Given the description of an element on the screen output the (x, y) to click on. 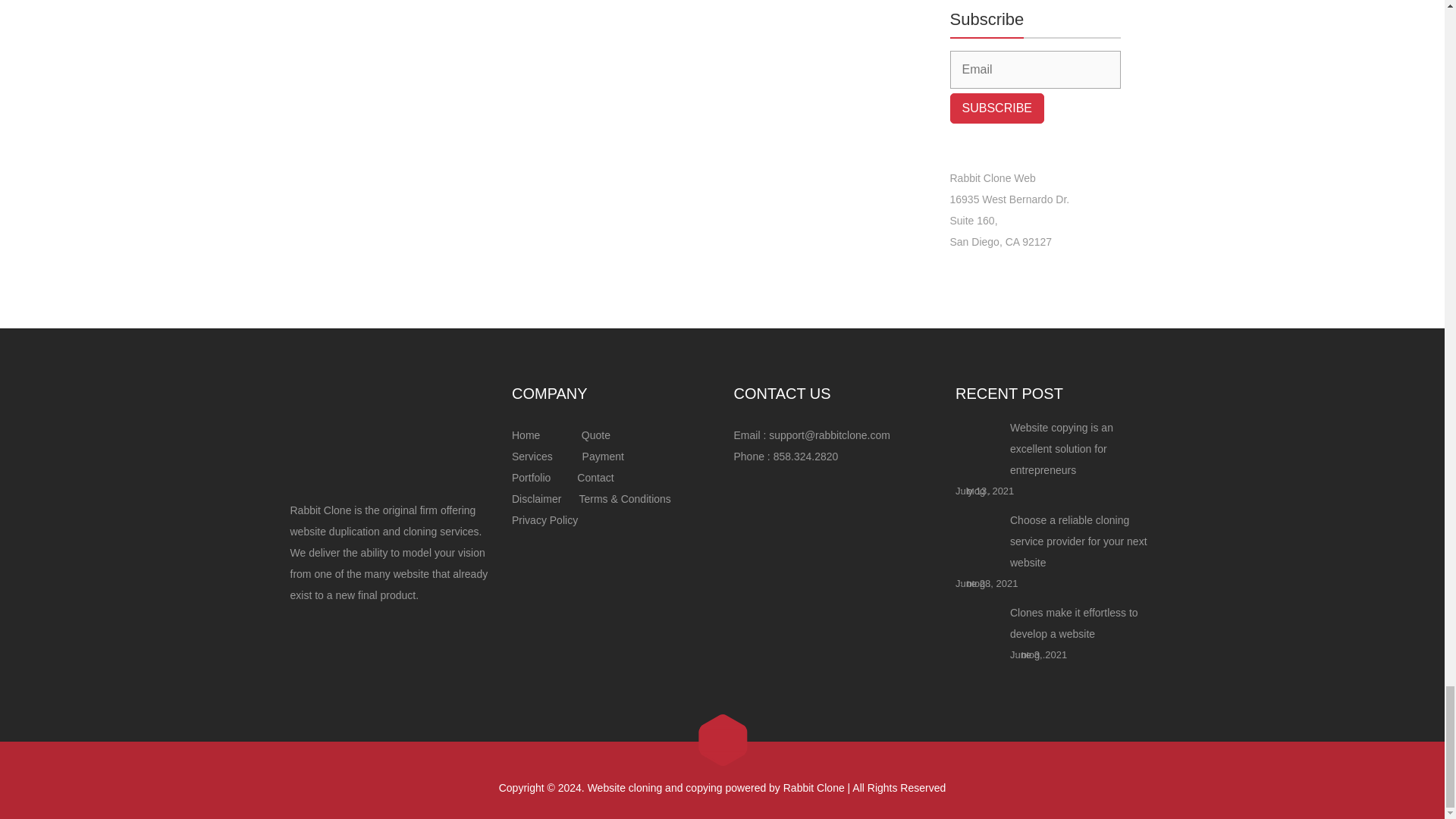
Subscribe (996, 108)
